Given the description of an element on the screen output the (x, y) to click on. 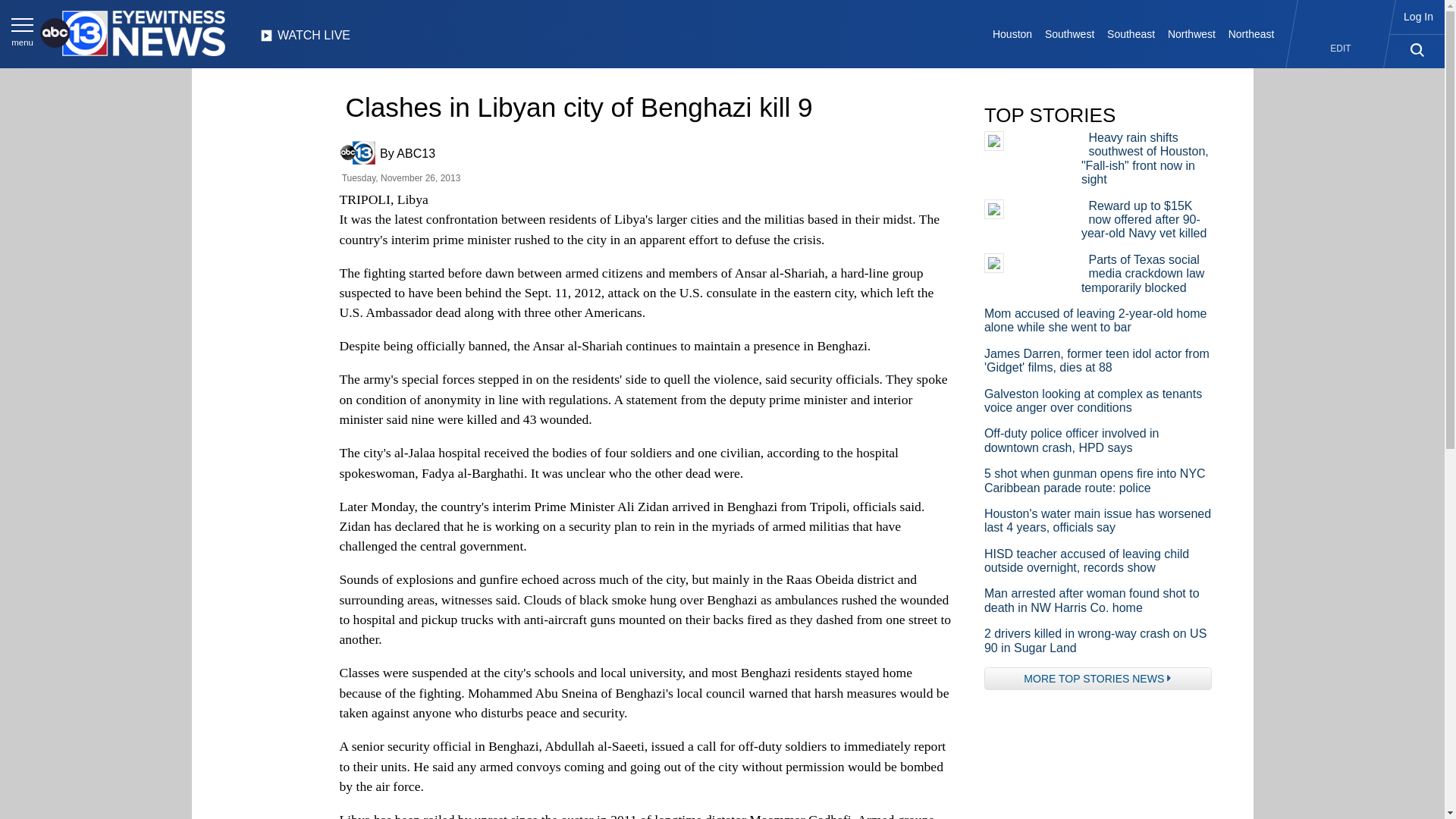
Southeast (1130, 33)
Southwest (1069, 33)
WATCH LIVE (305, 39)
Northeast (1250, 33)
Houston (1013, 33)
Northwest (1192, 33)
EDIT (1340, 48)
